Given the description of an element on the screen output the (x, y) to click on. 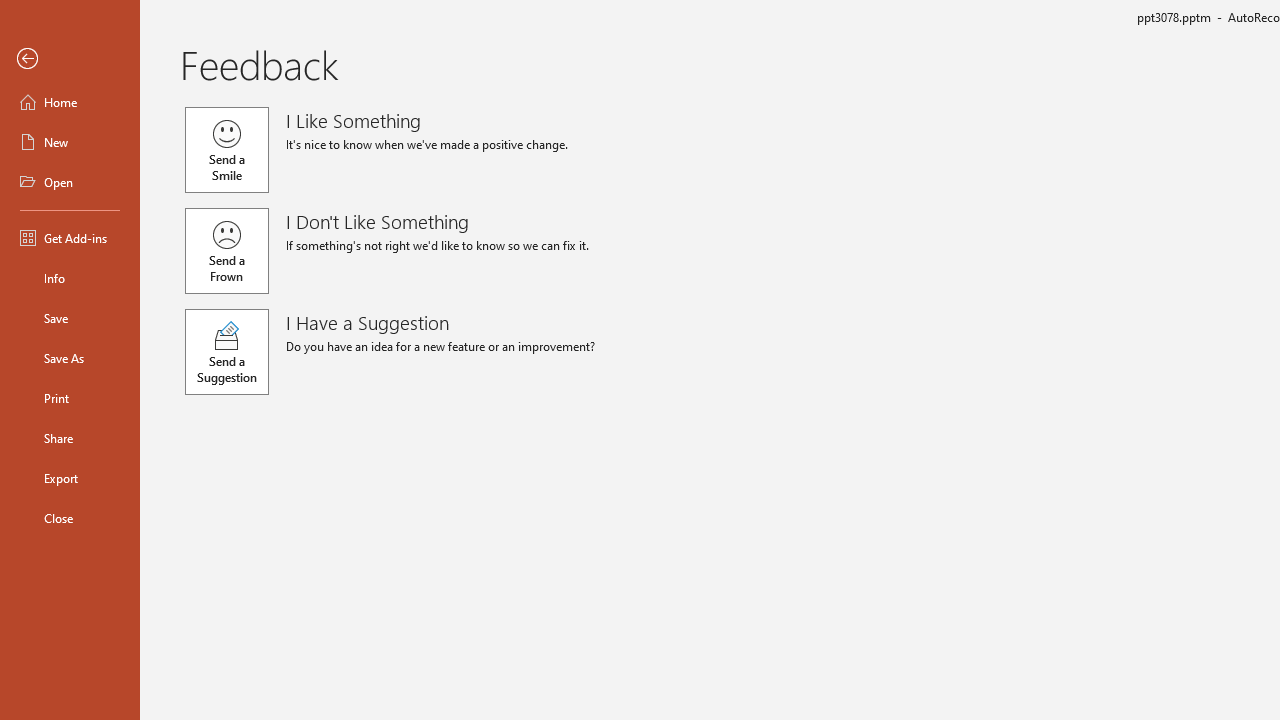
Back (69, 59)
Send a Frown (226, 250)
Send a Smile (226, 149)
Send a Suggestion (226, 351)
Print (69, 398)
Get Add-ins (69, 237)
Export (69, 477)
New (69, 141)
